Given the description of an element on the screen output the (x, y) to click on. 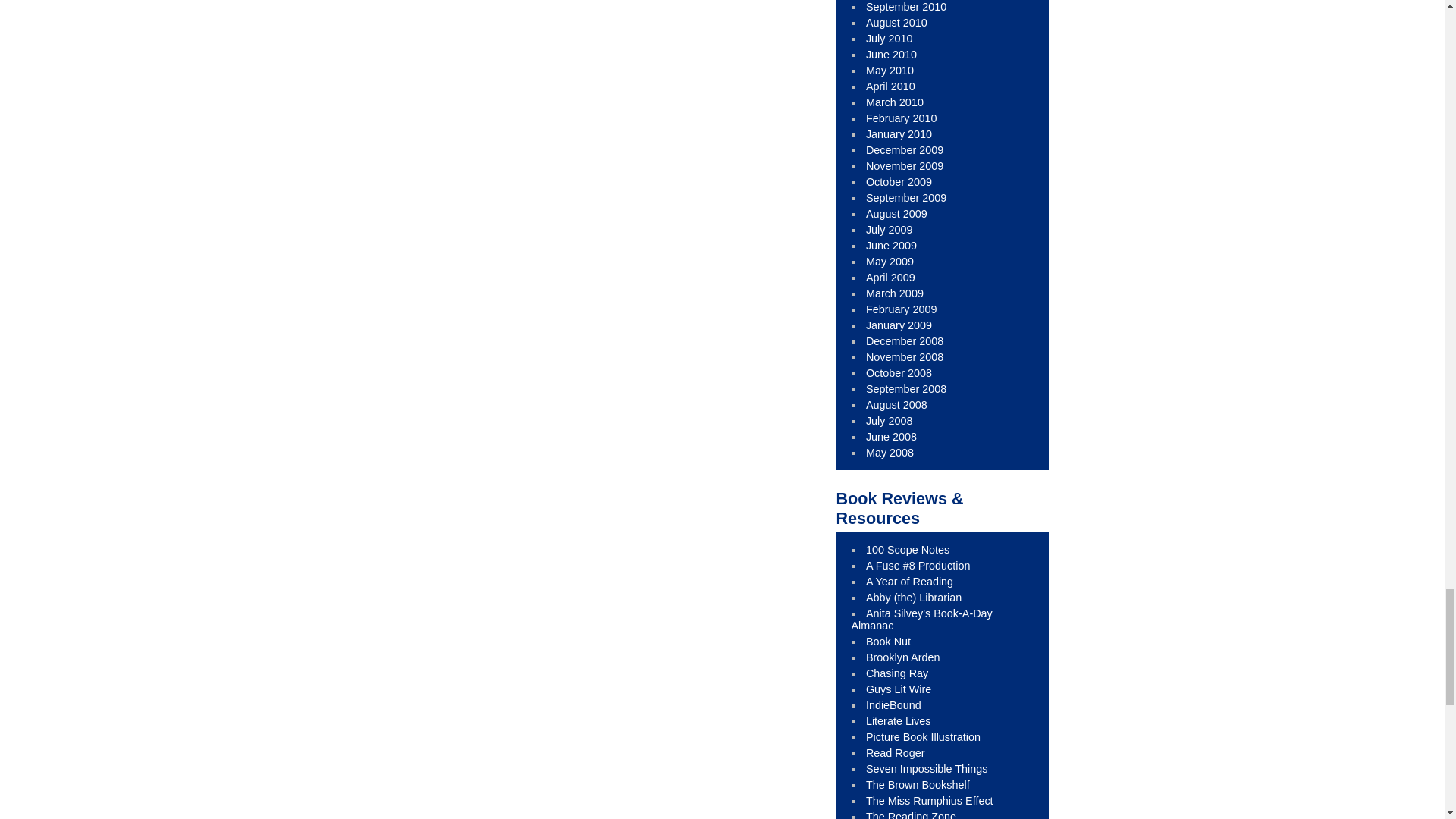
Cheryl Klein: Reader, Editor (903, 657)
Blog by a Lively, Outspoken, Entertaining NYC Librarian (918, 565)
Two Teacher Who Read. A Lot. (909, 581)
Book News and Recommendations (893, 705)
Books, etc. (897, 673)
Quick. Lively. Beautiful. Artistic. Fun. (922, 736)
